Given the description of an element on the screen output the (x, y) to click on. 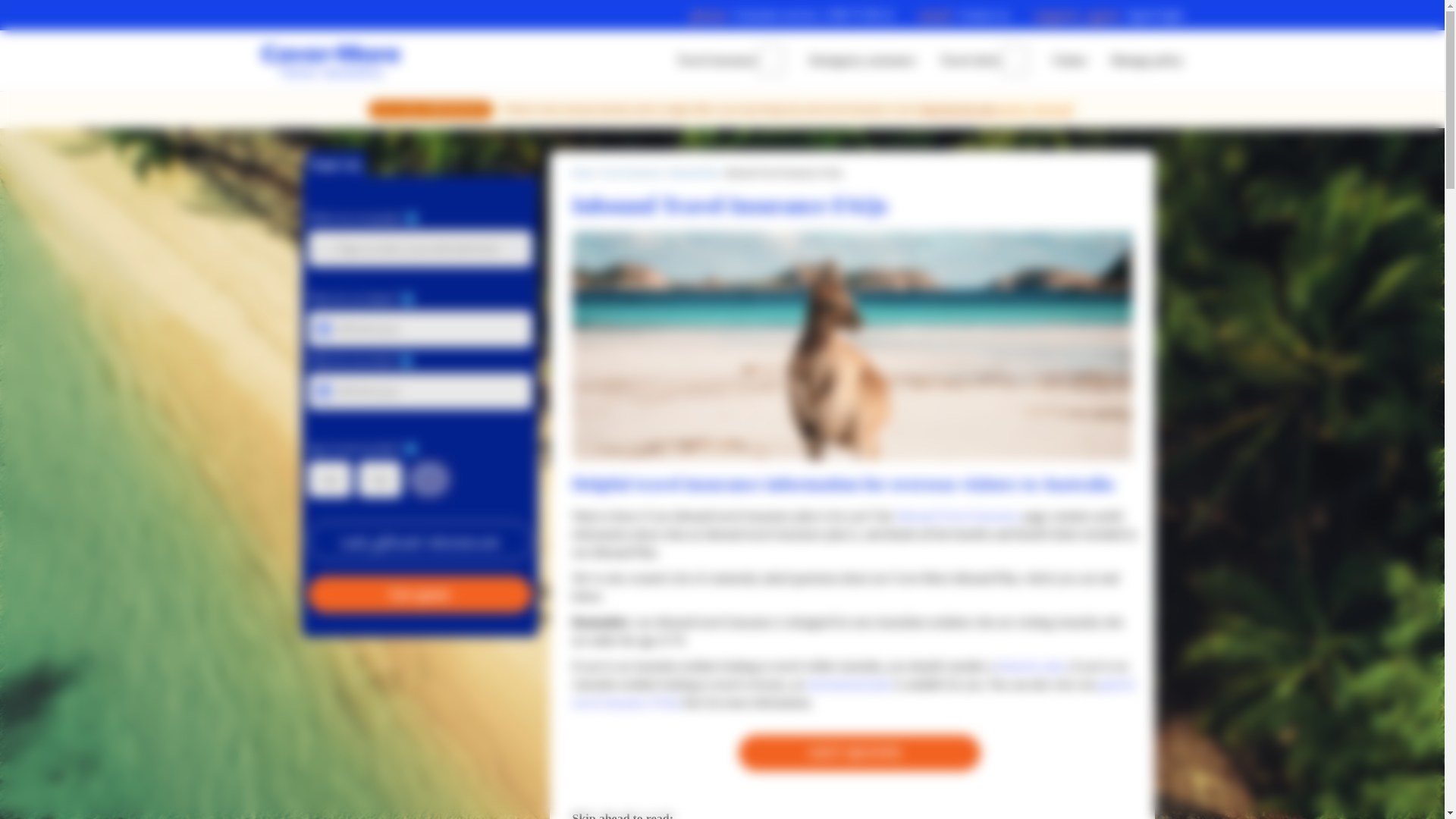
Annual multi-trip (418, 163)
Travel insurance (717, 60)
Manage policy (1146, 60)
add (429, 479)
Inbound (494, 163)
Home (583, 172)
Claims (1069, 60)
Single trip (335, 163)
Get quote (791, 14)
Travel alerts (419, 594)
Read the big print (970, 60)
Emergency assistance (957, 109)
